Given the description of an element on the screen output the (x, y) to click on. 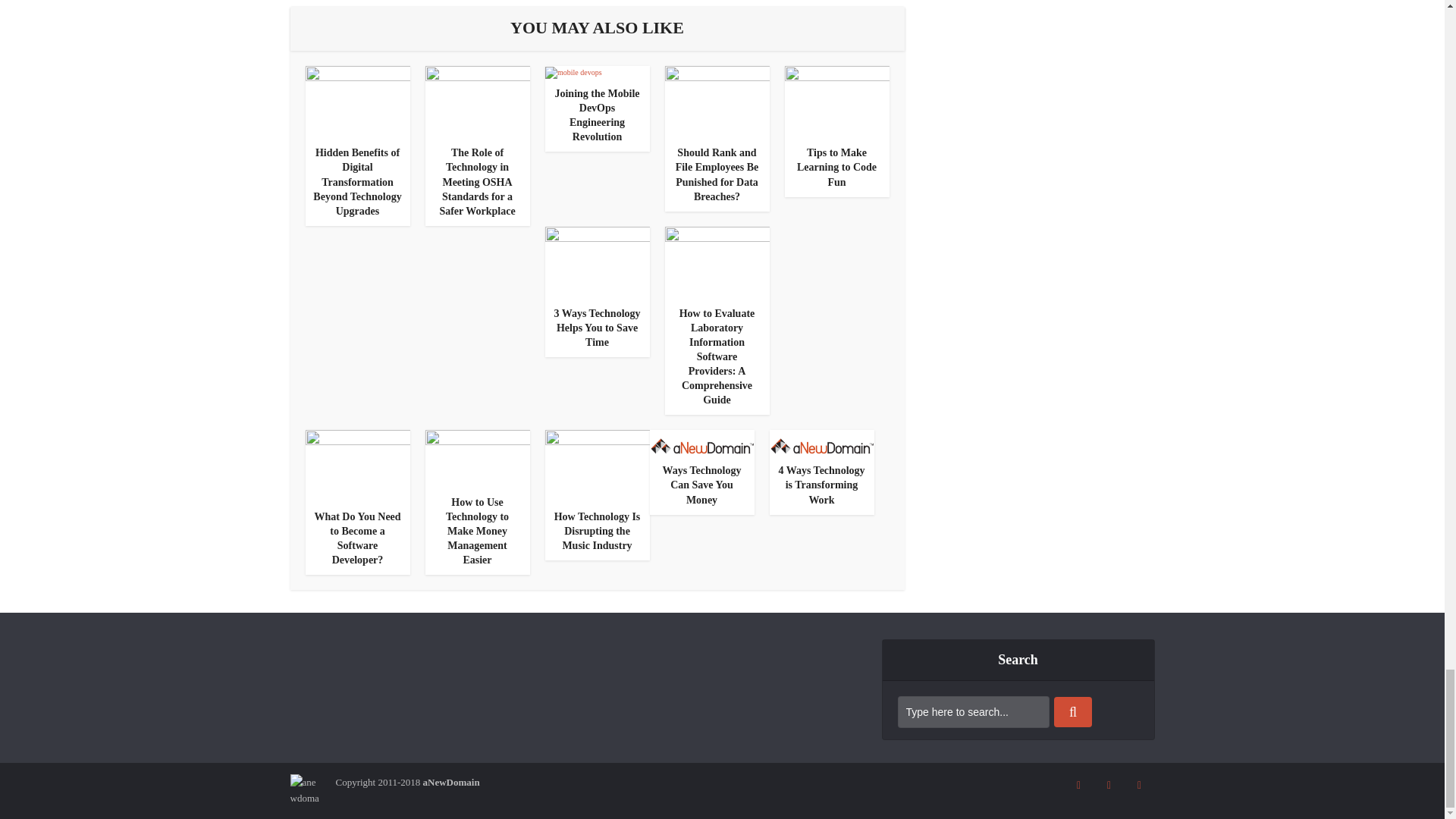
Tips to Make Learning to Code Fun (836, 101)
Tips to Make Learning to Code Fun (836, 167)
Joining the Mobile DevOps Engineering Revolution (596, 114)
3 Ways Technology Helps You to Save Time (596, 327)
3 Ways Technology Helps You to Save Time (596, 261)
